Given the description of an element on the screen output the (x, y) to click on. 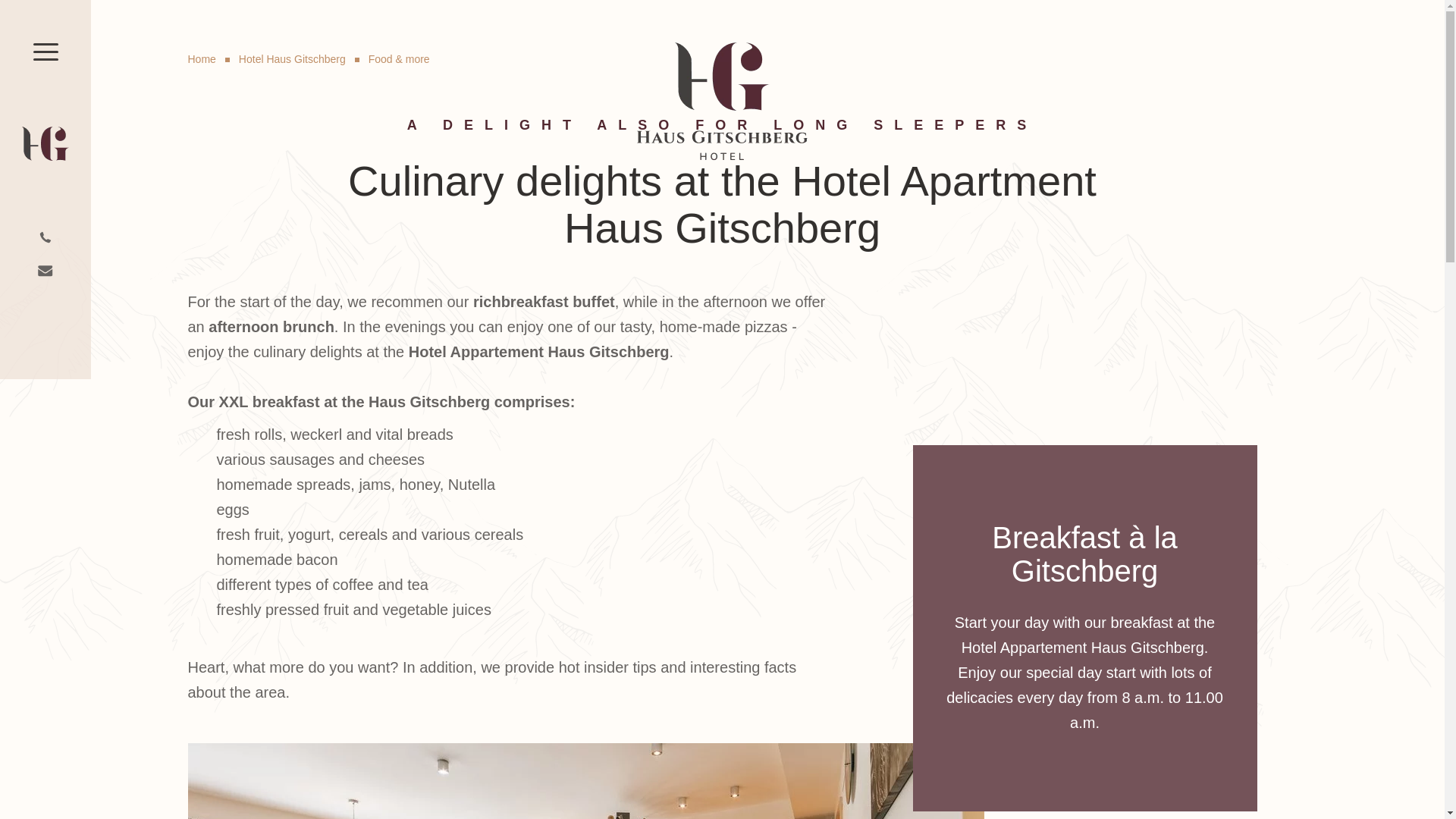
Haus Gitschberg Logo (721, 104)
Home (201, 58)
Hotel Haus Gitschberg (290, 58)
